Given the description of an element on the screen output the (x, y) to click on. 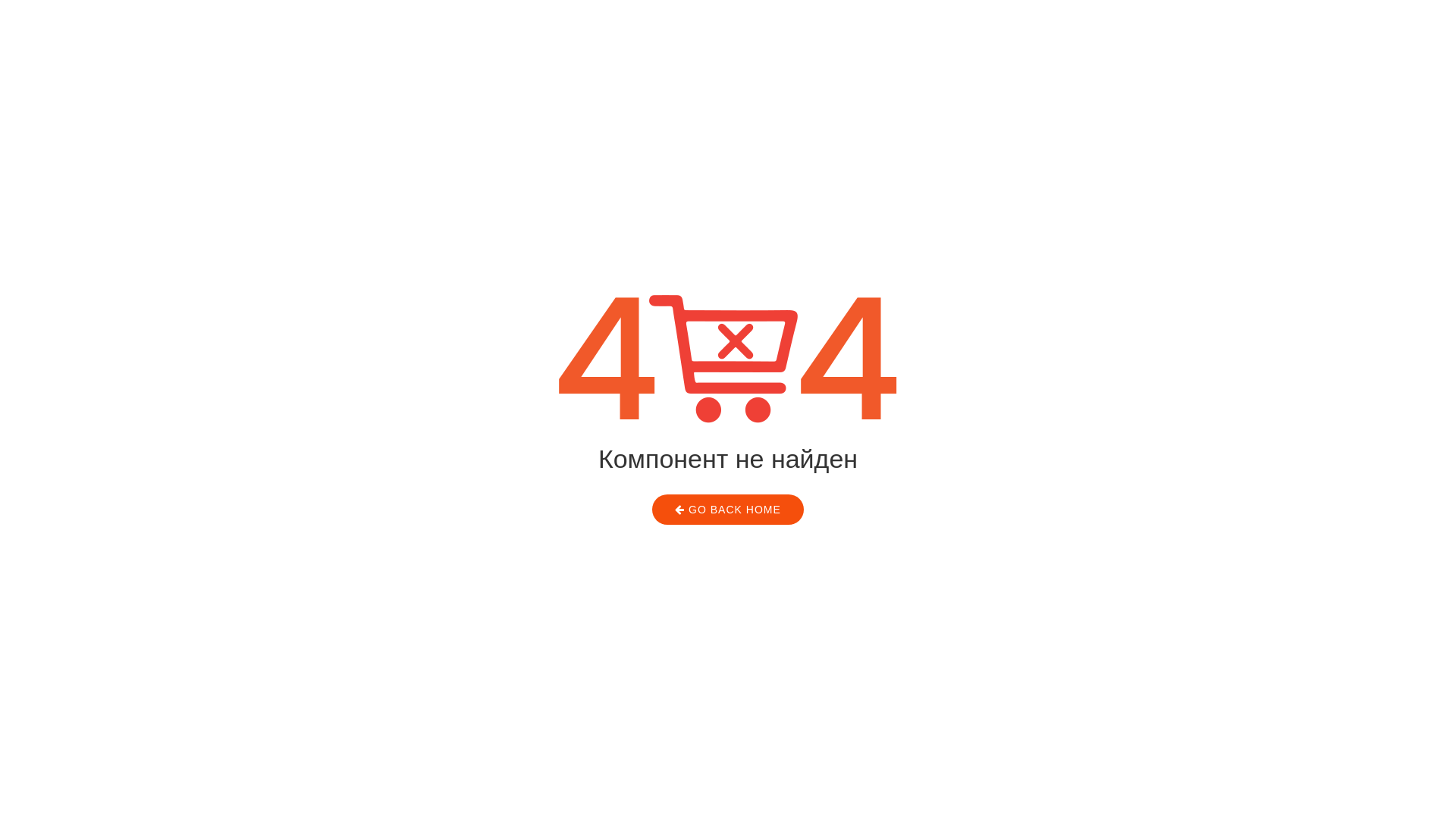
GO BACK HOME Element type: text (727, 509)
